Given the description of an element on the screen output the (x, y) to click on. 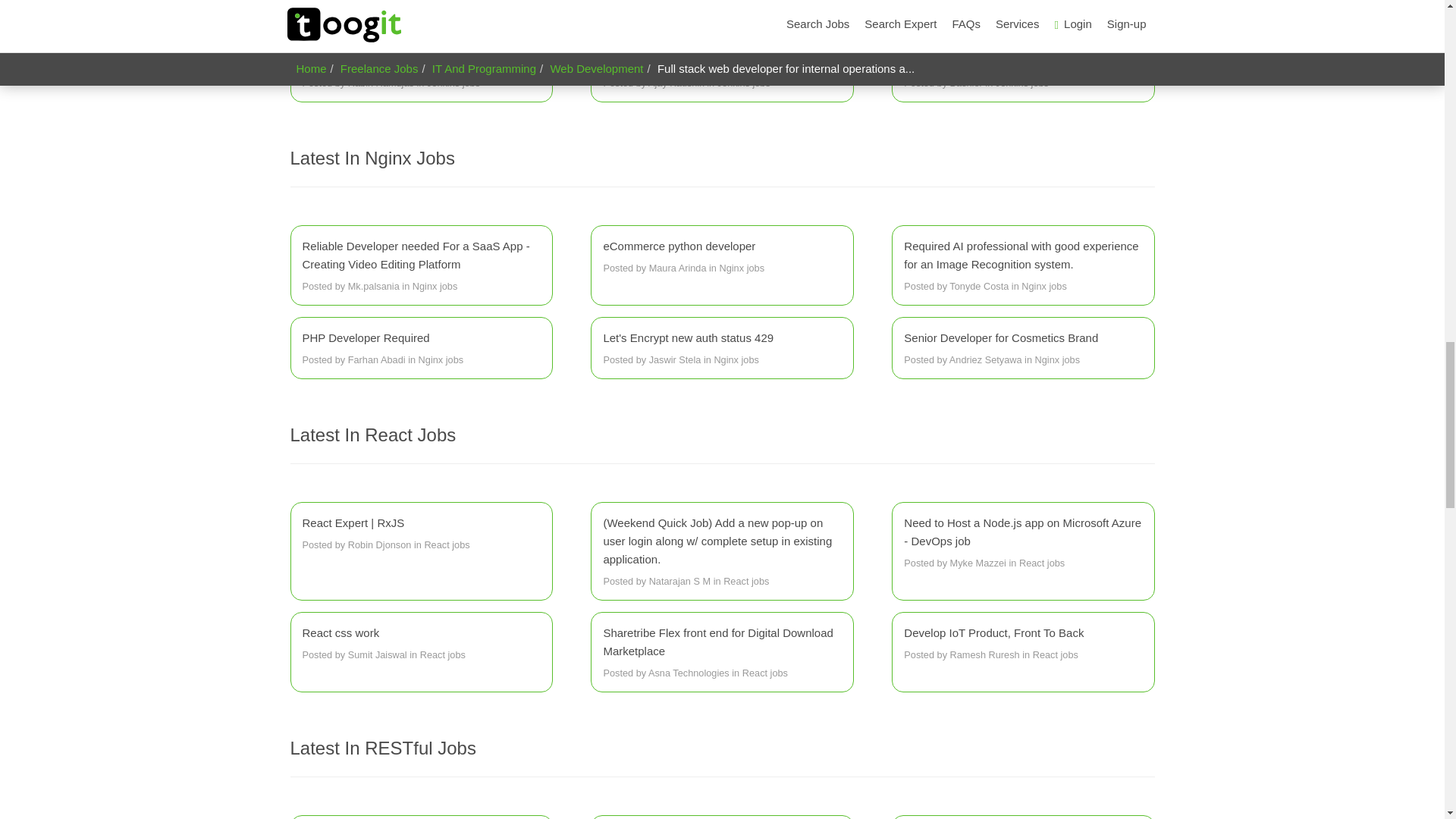
In Nginx: eCommerce python developer (721, 257)
